Given the description of an element on the screen output the (x, y) to click on. 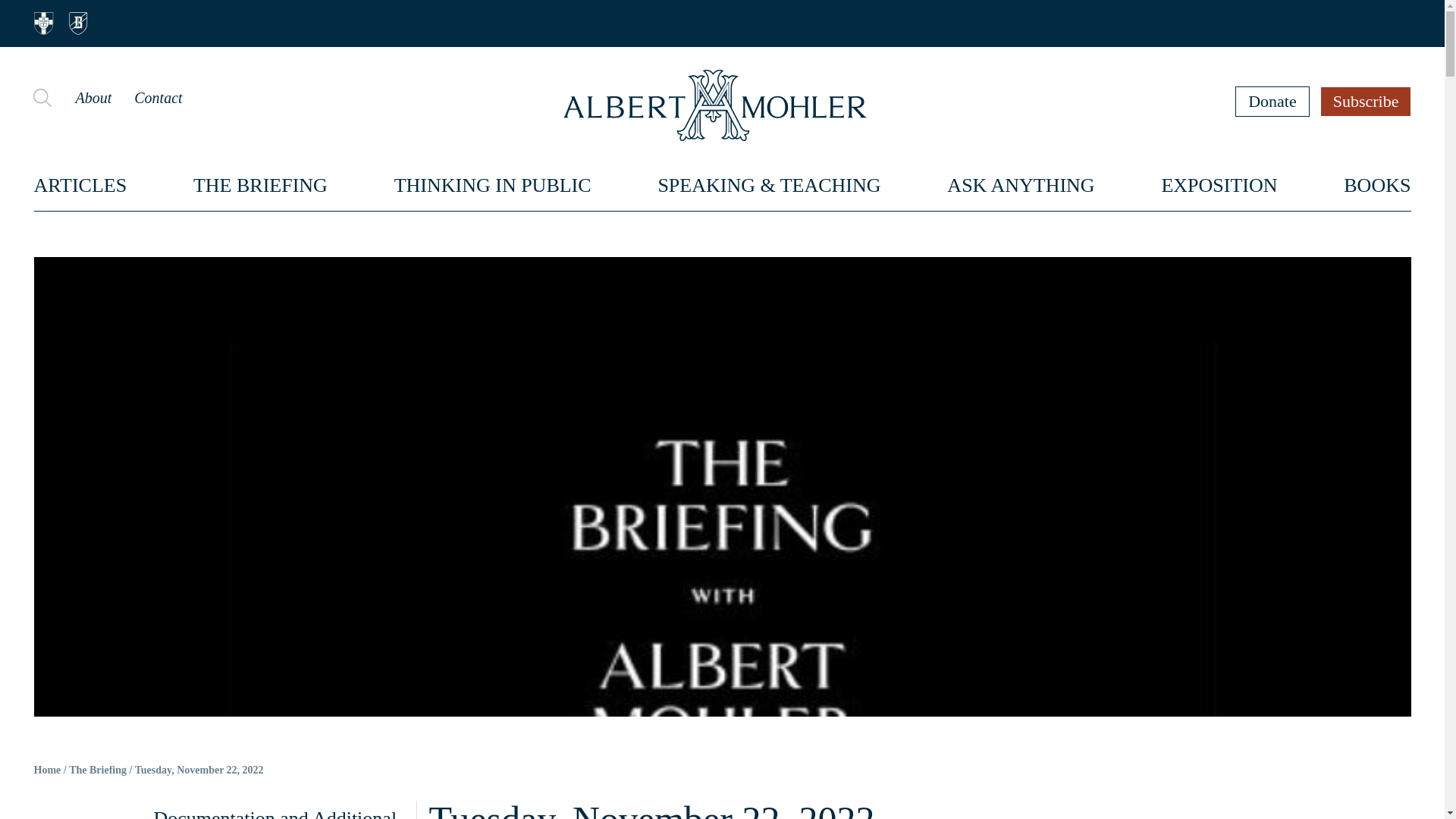
ARTICLES (79, 185)
Home (47, 770)
Contact (157, 97)
About (93, 97)
THINKING IN PUBLIC (492, 185)
The Briefing (97, 770)
Donate (1272, 101)
BOOKS (1376, 185)
ASK ANYTHING (1020, 185)
THE BRIEFING (260, 185)
EXPOSITION (1218, 185)
Subscribe (1366, 101)
